Given the description of an element on the screen output the (x, y) to click on. 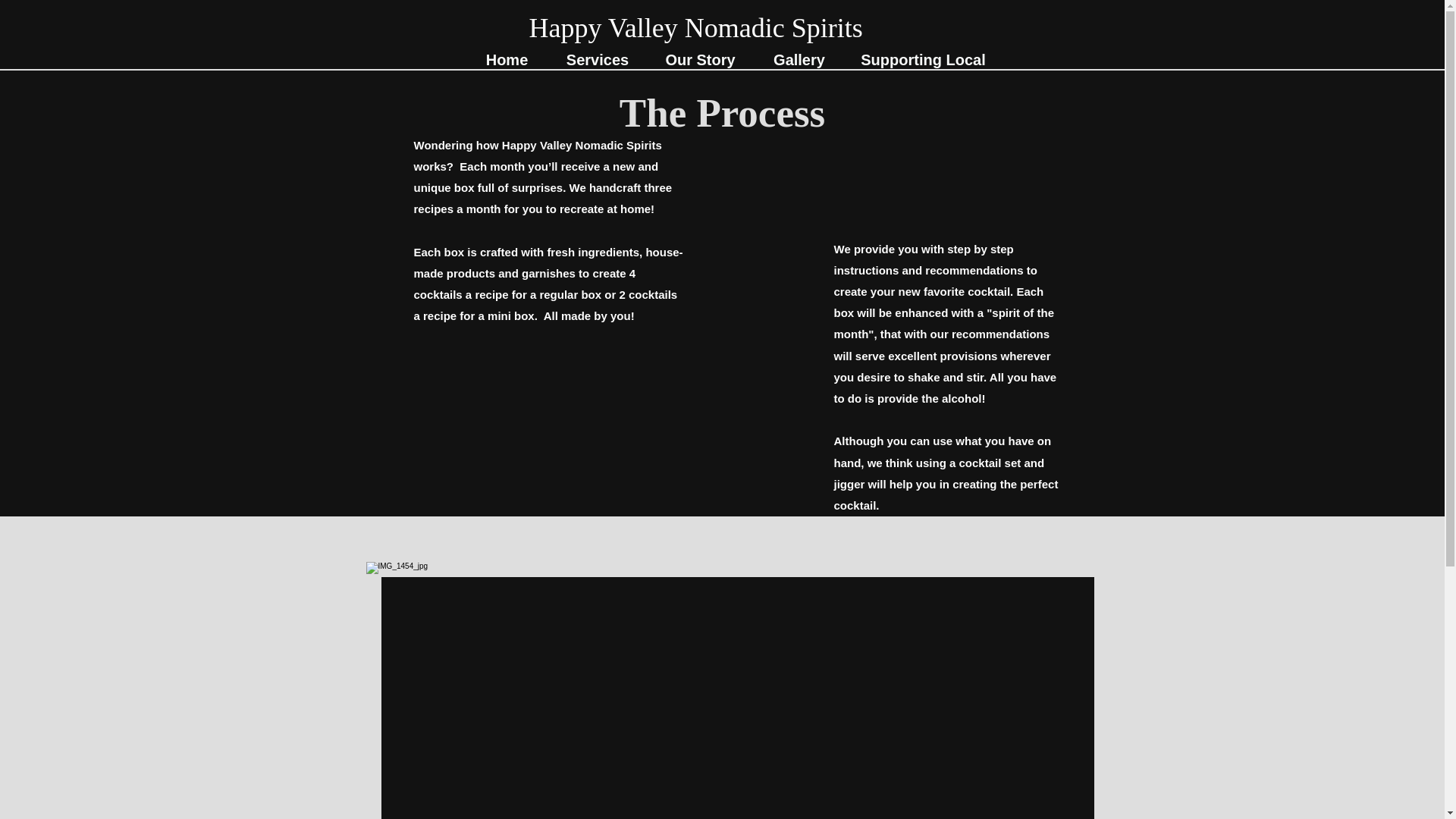
Our Story (700, 59)
Gallery (799, 59)
Supporting Local (923, 59)
Services (597, 59)
Home (506, 59)
